Given the description of an element on the screen output the (x, y) to click on. 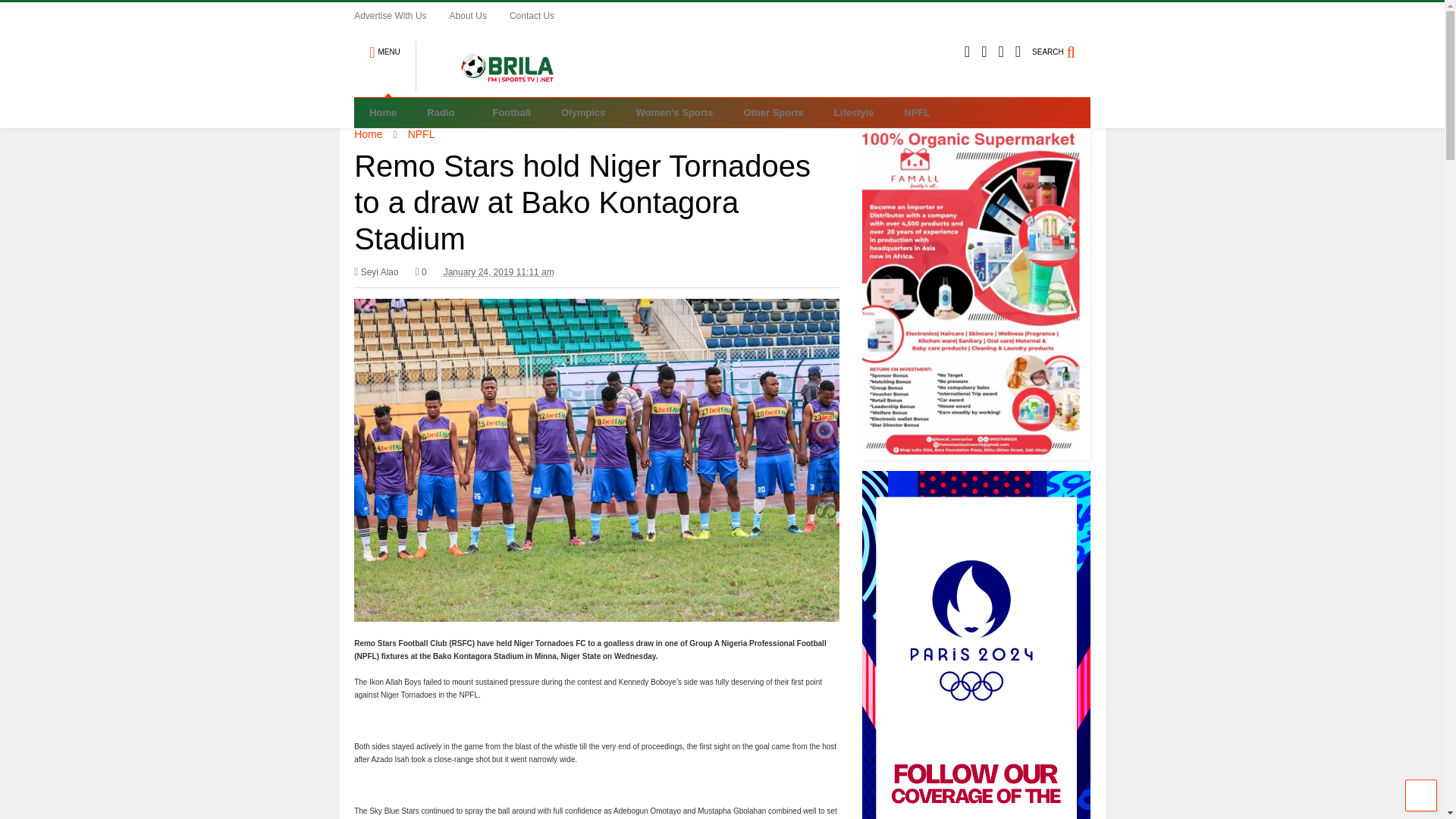
Seyi Alao (375, 272)
January 24, 2019 11:11 am (499, 272)
Contact Us (542, 15)
NPFL (421, 133)
Home (382, 112)
Seyi Alao (375, 272)
Olympics (583, 112)
SEARCH (1061, 45)
Latest Sports News In Nigeria (498, 84)
Radio (444, 112)
